Given the description of an element on the screen output the (x, y) to click on. 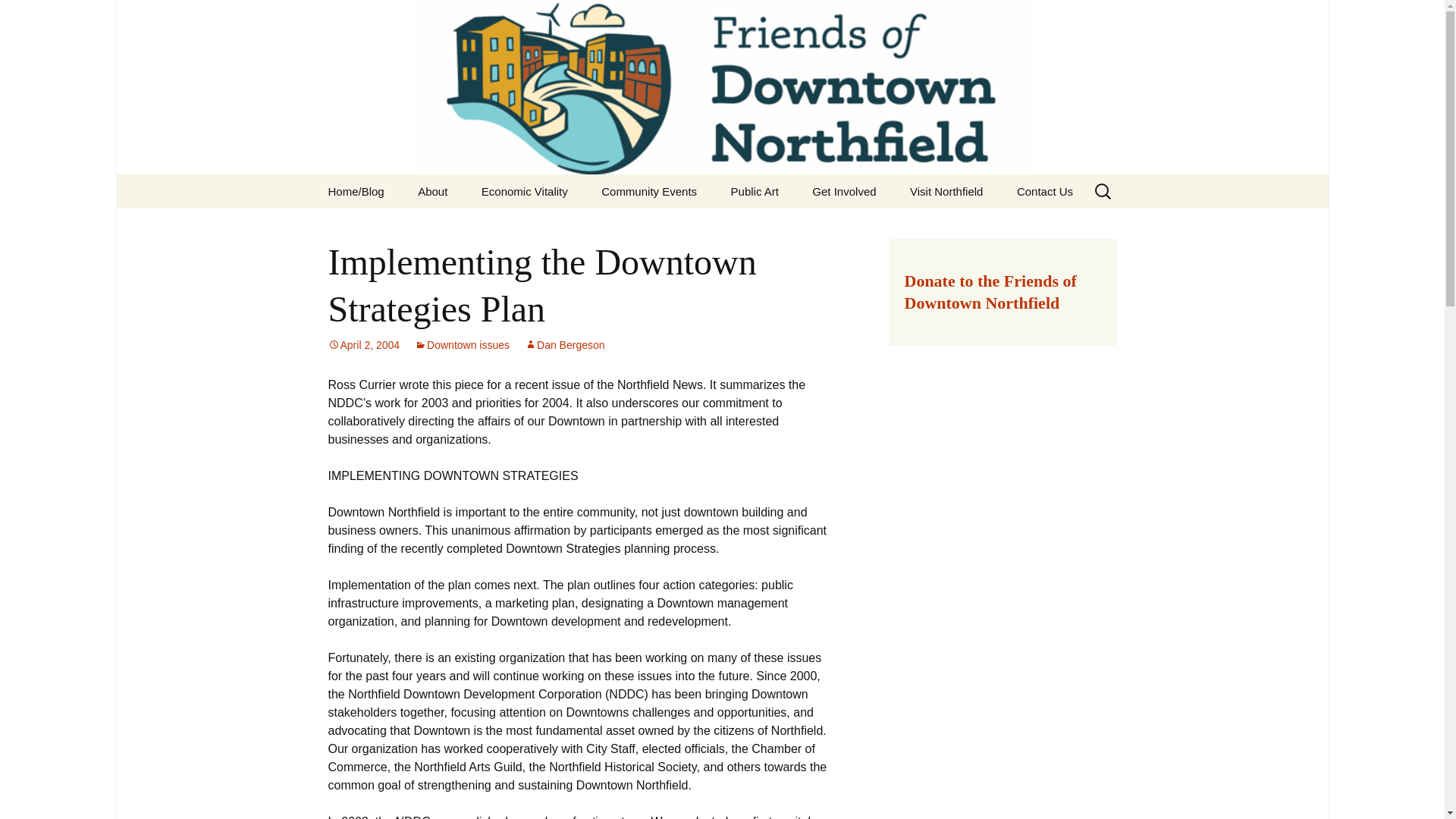
Artists on Main Street (791, 225)
April 2, 2004 (362, 345)
View all posts by Dan Bergeson (564, 345)
Third Thursdays Downtown (662, 230)
Donating (872, 225)
Get Involved (843, 191)
Community Events (648, 191)
Public Art (754, 191)
